Given the description of an element on the screen output the (x, y) to click on. 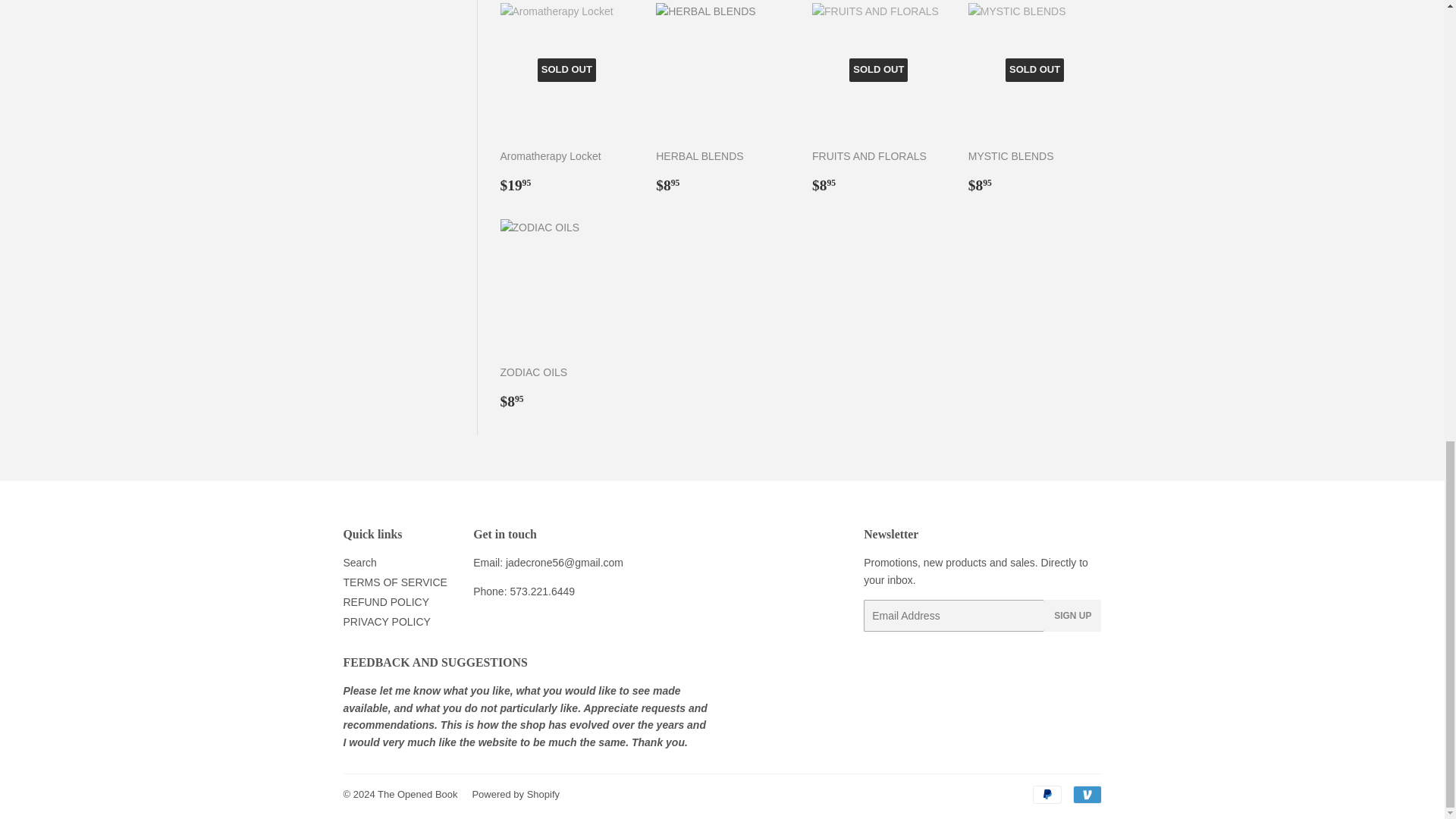
Search (358, 562)
PayPal (1046, 794)
REFUND POLICY (385, 602)
TERMS OF SERVICE (394, 582)
PRIVACY POLICY (385, 621)
Venmo (1085, 794)
SIGN UP (1071, 615)
